Given the description of an element on the screen output the (x, y) to click on. 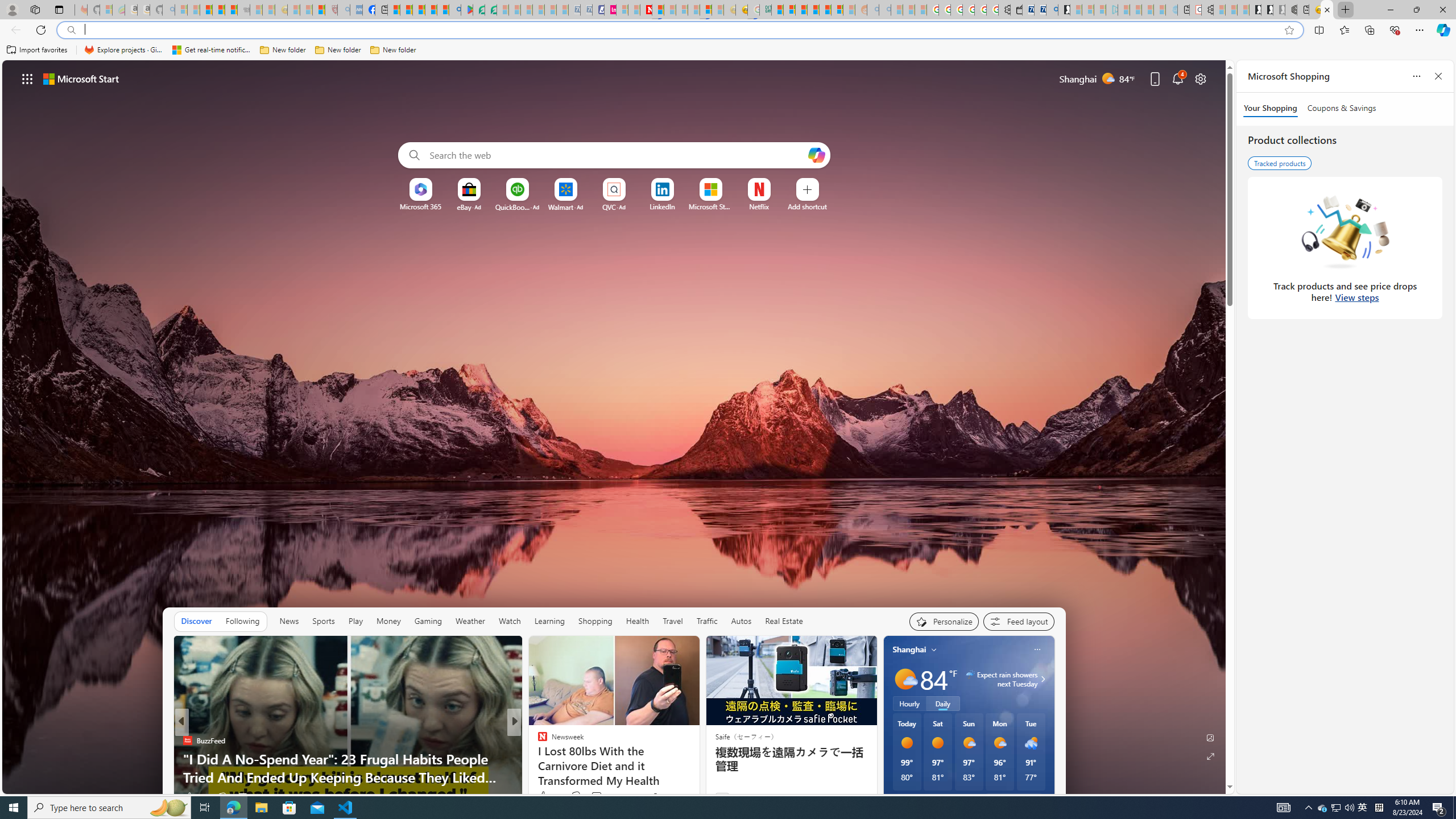
XDA Developers (537, 758)
View comments 18 Comment (244, 796)
186 Like (545, 796)
